Given the description of an element on the screen output the (x, y) to click on. 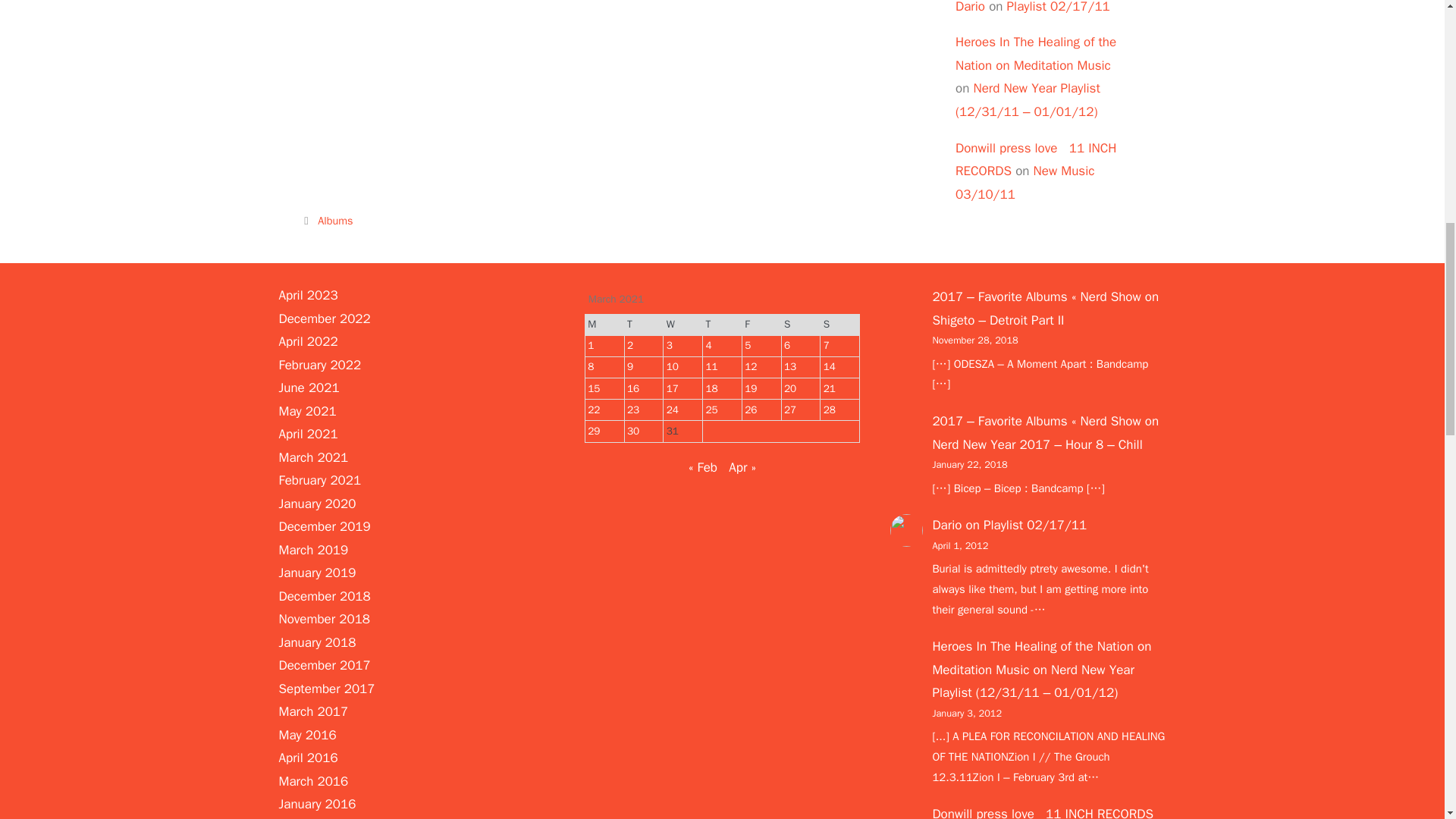
Wednesday (683, 323)
April 2022 (308, 341)
Monday (604, 323)
May 2021 (307, 411)
April 2023 (308, 295)
June 2021 (309, 387)
Dario (970, 7)
Friday (760, 323)
Saturday (800, 323)
December 2022 (325, 318)
